Given the description of an element on the screen output the (x, y) to click on. 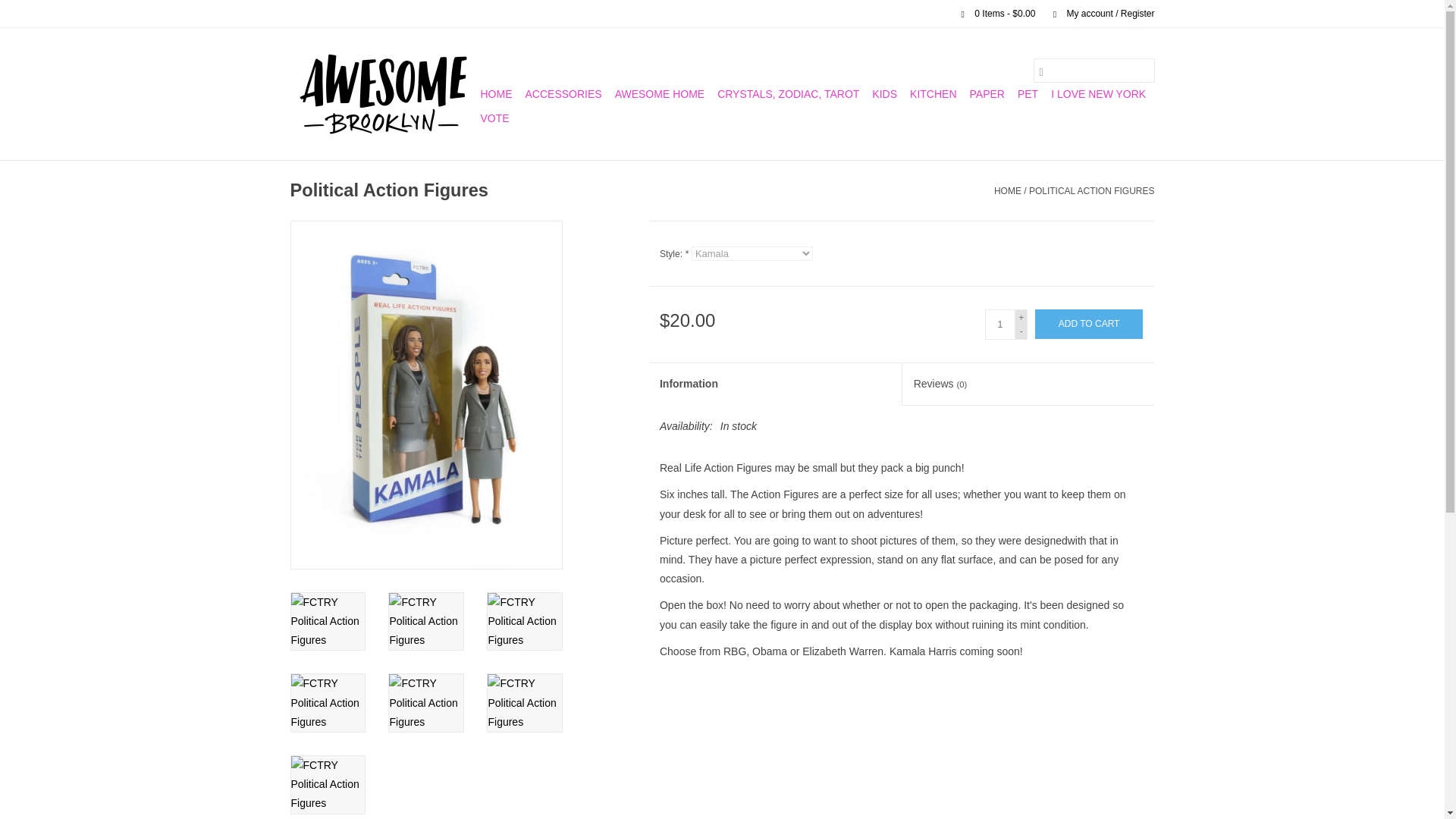
1 (999, 324)
Cart (992, 13)
My account (1096, 13)
AWESOME HOME (660, 93)
Accessories (562, 93)
HOME (496, 93)
Awesome Home (660, 93)
Awesome Brooklyn (382, 93)
ACCESSORIES (562, 93)
CRYSTALS, ZODIAC, TAROT (788, 93)
